Given the description of an element on the screen output the (x, y) to click on. 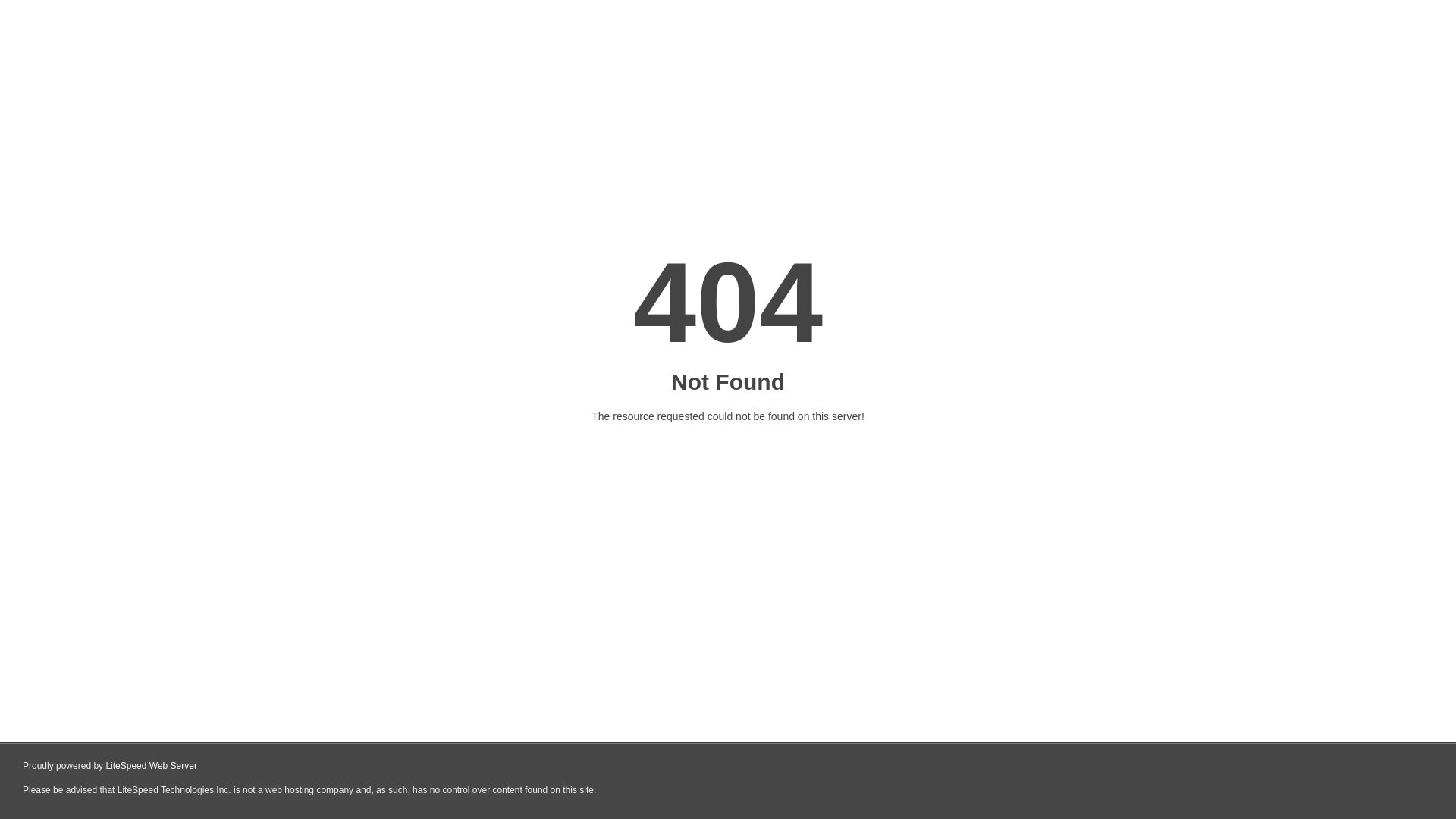
LiteSpeed Web Server Element type: text (151, 765)
